Given the description of an element on the screen output the (x, y) to click on. 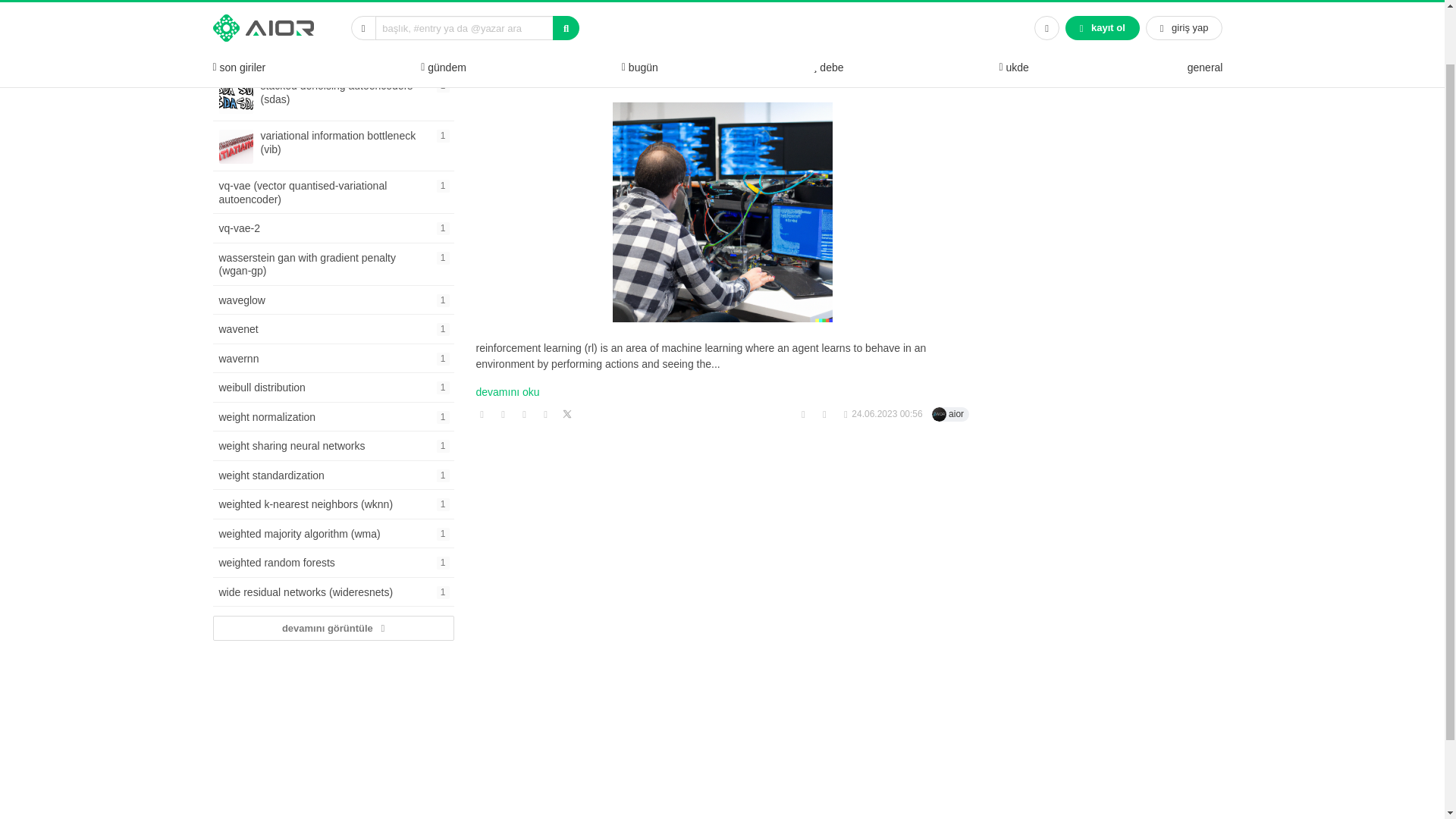
Weight Sharing Neural Networks (332, 445)
WaveGlow (332, 300)
Weight Normalization (332, 328)
WaveNet (332, 416)
 son giriler (332, 328)
WaveRNN (238, 4)
